Given the description of an element on the screen output the (x, y) to click on. 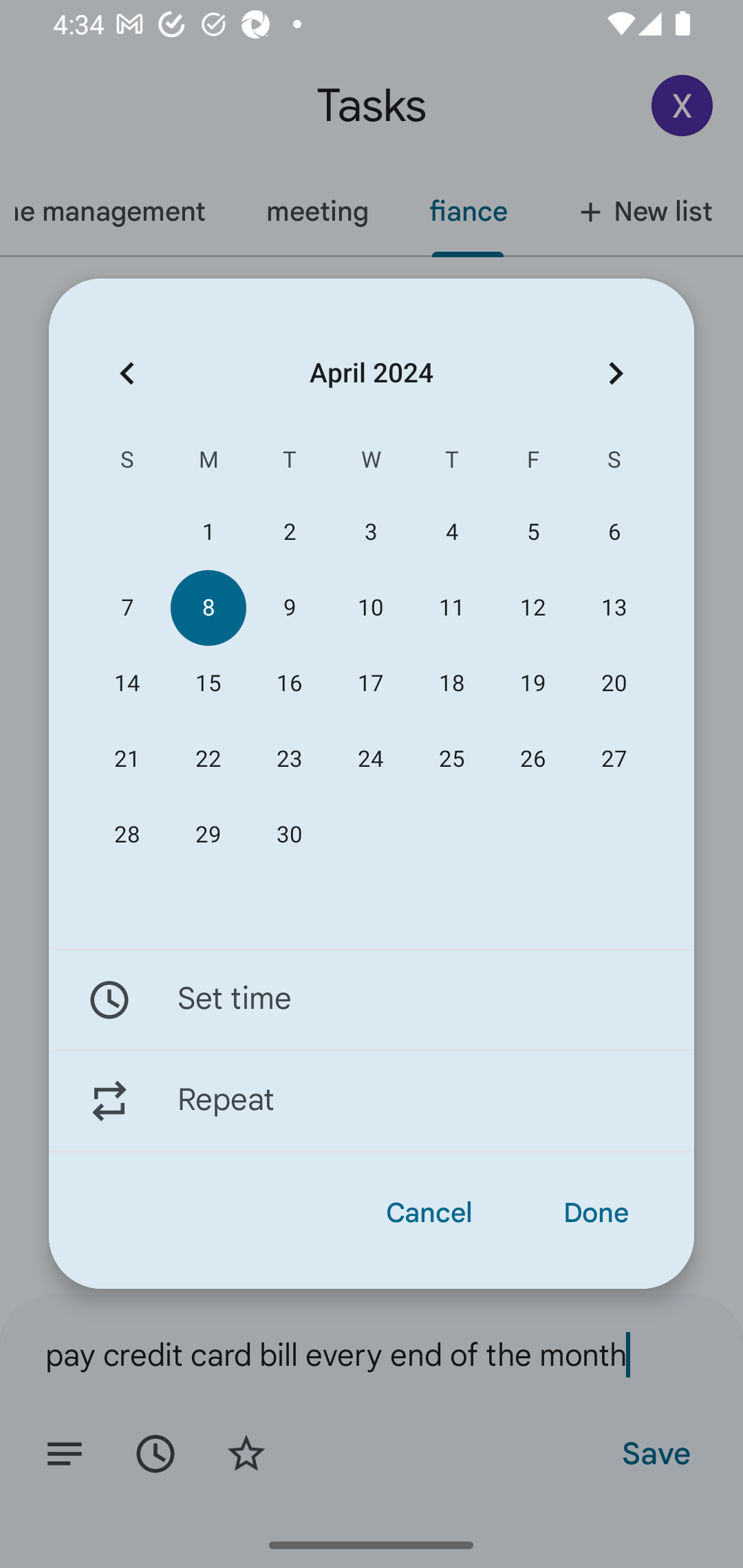
Previous month (126, 372)
Next month (615, 372)
1 01 April 2024 (207, 531)
2 02 April 2024 (288, 531)
3 03 April 2024 (370, 531)
4 04 April 2024 (451, 531)
5 05 April 2024 (532, 531)
6 06 April 2024 (613, 531)
7 07 April 2024 (126, 608)
8 08 April 2024 (207, 608)
9 09 April 2024 (288, 608)
10 10 April 2024 (370, 608)
11 11 April 2024 (451, 608)
12 12 April 2024 (532, 608)
13 13 April 2024 (613, 608)
14 14 April 2024 (126, 683)
15 15 April 2024 (207, 683)
16 16 April 2024 (288, 683)
17 17 April 2024 (370, 683)
18 18 April 2024 (451, 683)
19 19 April 2024 (532, 683)
20 20 April 2024 (613, 683)
21 21 April 2024 (126, 758)
22 22 April 2024 (207, 758)
23 23 April 2024 (288, 758)
24 24 April 2024 (370, 758)
25 25 April 2024 (451, 758)
26 26 April 2024 (532, 758)
27 27 April 2024 (613, 758)
28 28 April 2024 (126, 834)
29 29 April 2024 (207, 834)
30 30 April 2024 (288, 834)
Set time (371, 999)
Repeat (371, 1101)
Cancel (429, 1213)
Done (595, 1213)
